Given the description of an element on the screen output the (x, y) to click on. 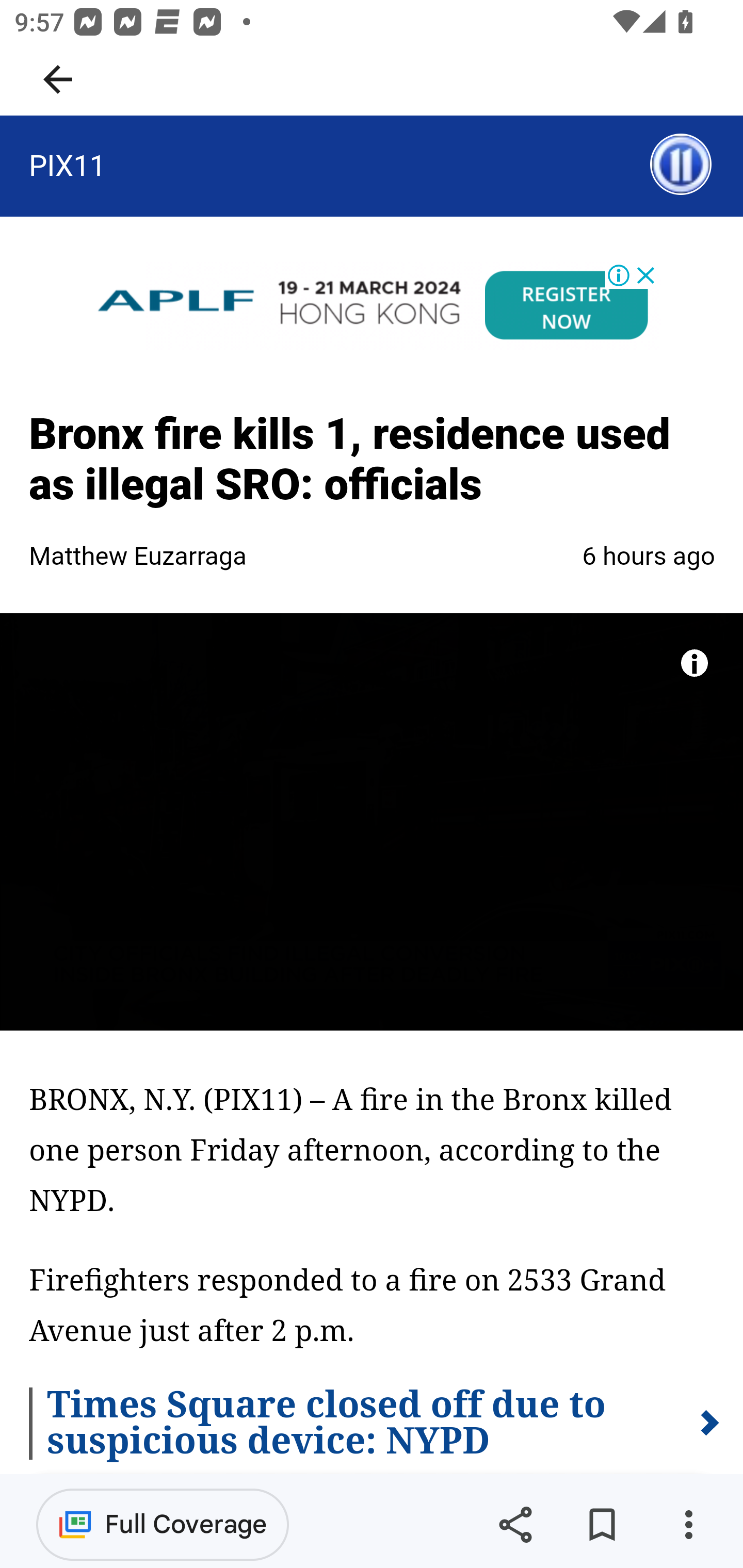
Navigate up (57, 79)
PIX11 cropped-WPIX_favicon-1 PIX11 (67, 165)
Share (514, 1524)
Save for later (601, 1524)
More options (688, 1524)
Full Coverage (162, 1524)
